Given the description of an element on the screen output the (x, y) to click on. 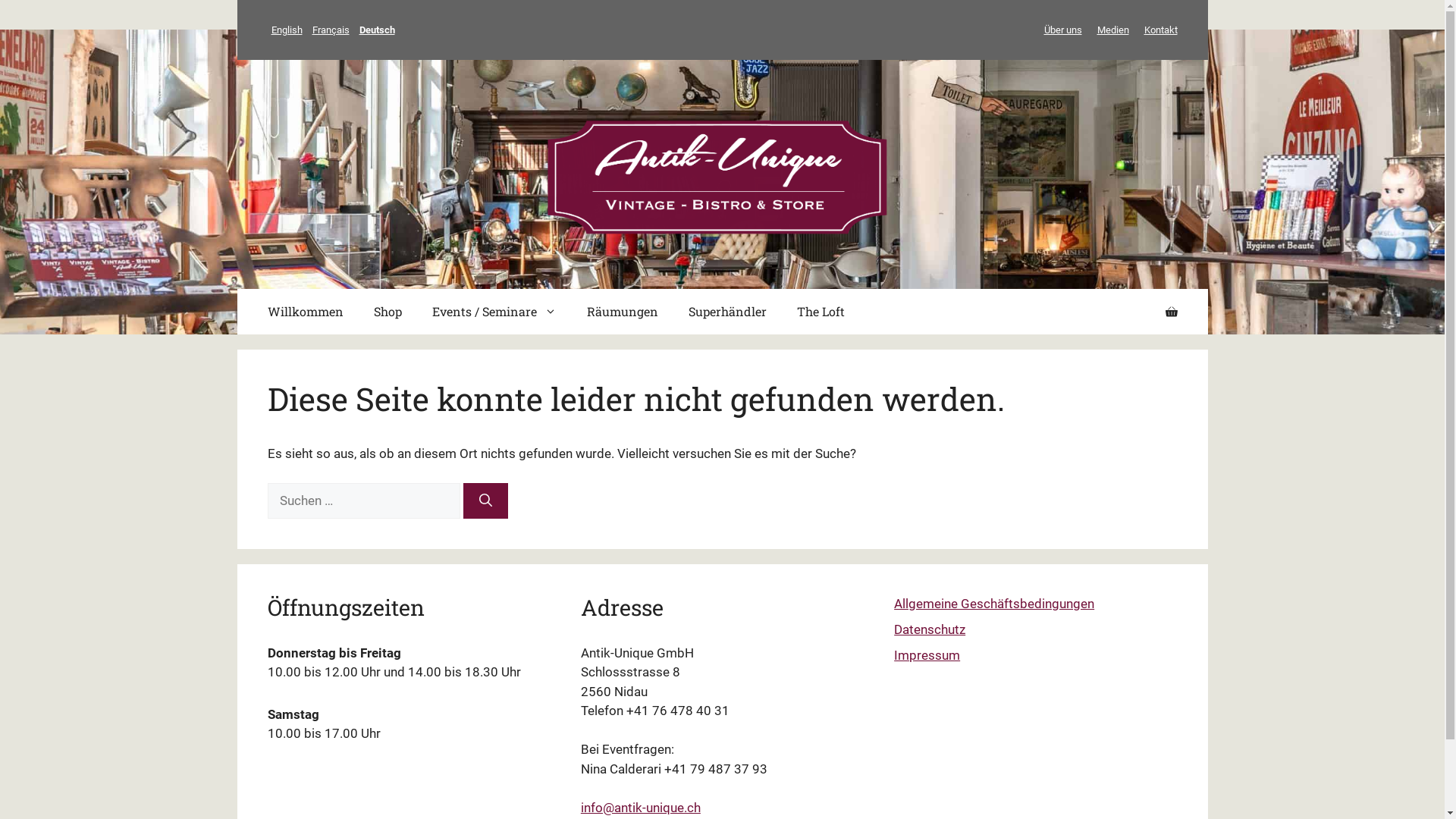
Shop Element type: text (386, 311)
View your shopping cart Element type: hover (1170, 311)
English Element type: text (285, 29)
Medien Element type: text (1112, 29)
Willkommen Element type: text (304, 311)
Kontakt Element type: text (1159, 29)
Events / Seminare Element type: text (494, 311)
Suche nach: Element type: hover (362, 501)
info@antik-unique.ch Element type: text (640, 807)
Deutsch Element type: text (376, 29)
The Loft Element type: text (820, 311)
Datenschutz Element type: text (929, 629)
Impressum Element type: text (927, 654)
